Given the description of an element on the screen output the (x, y) to click on. 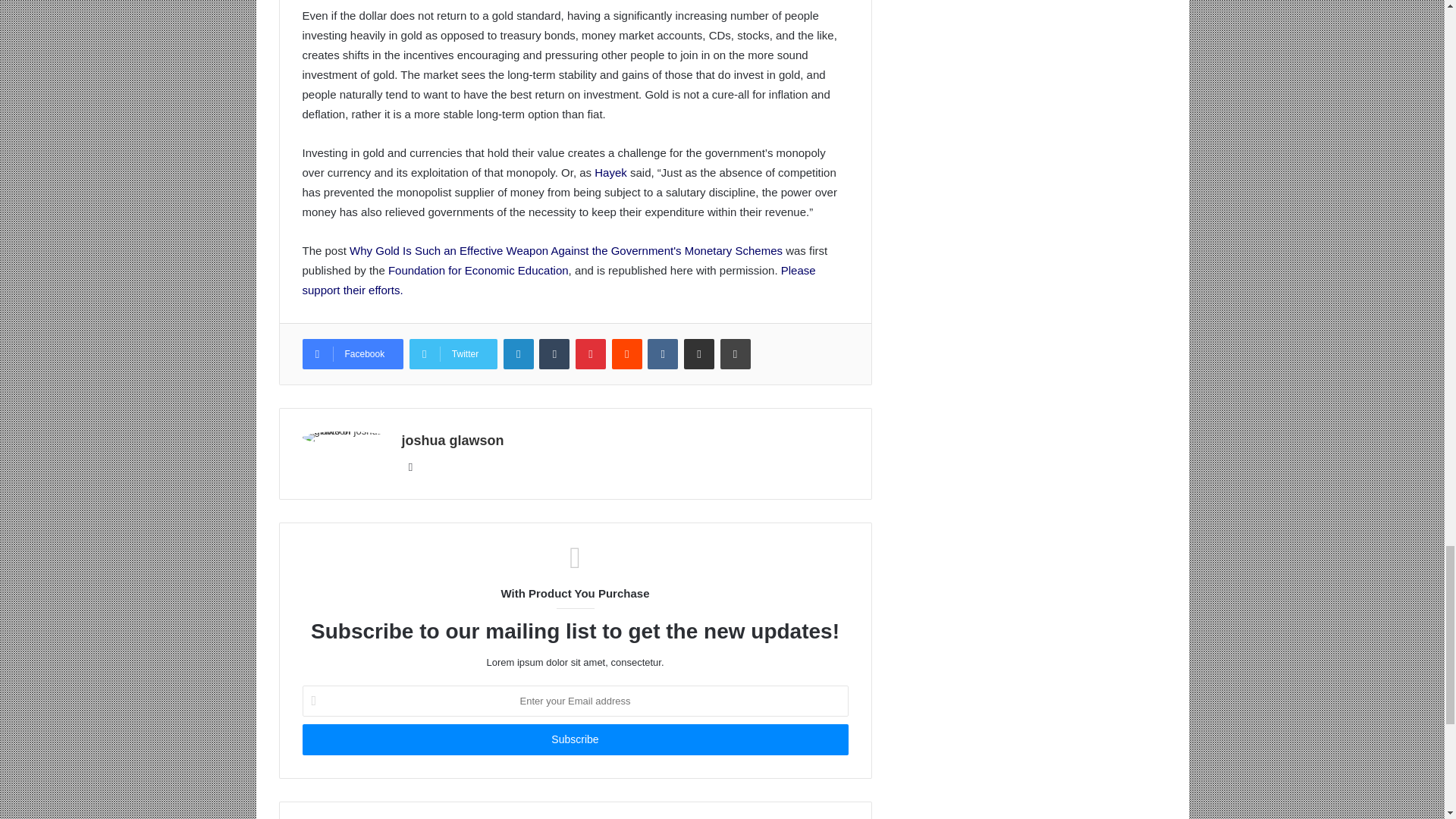
Twitter (453, 354)
VKontakte (662, 354)
Facebook (352, 354)
Share via Email (699, 354)
Hayek (610, 172)
Pinterest (590, 354)
Subscribe (574, 739)
Print (735, 354)
Reddit (626, 354)
